Given the description of an element on the screen output the (x, y) to click on. 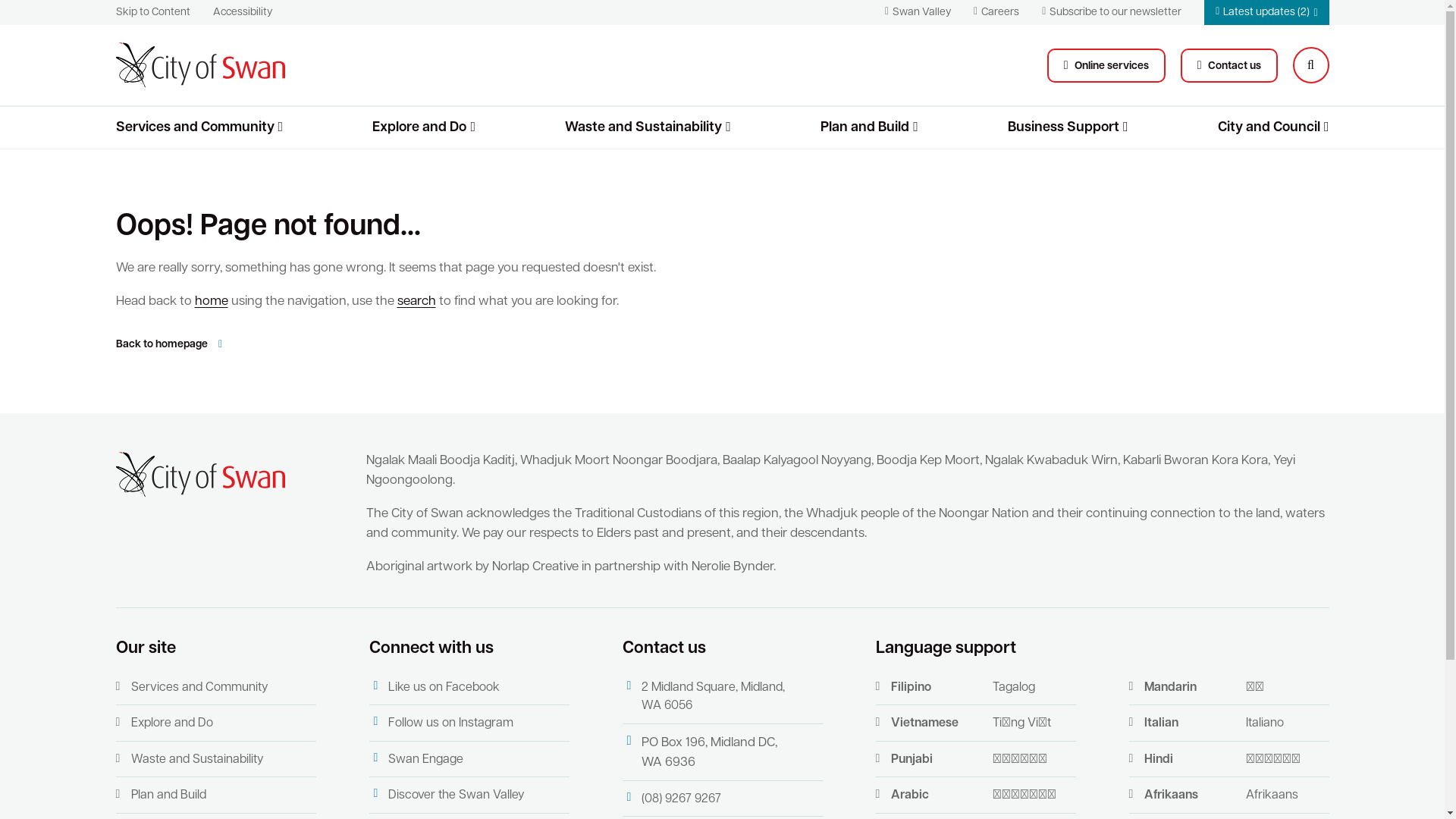
Follow us on Instagram Element type: text (468, 723)
(08) 9267 9267 Element type: text (721, 798)
Services and Community Element type: text (198, 127)
Afrikaans
Afrikaans Element type: text (1228, 795)
Business Support Element type: text (1067, 127)
Waste and Sustainability Element type: text (647, 127)
City of Swan Element type: hover (199, 473)
Accessibility Element type: text (241, 12)
Search toggle Element type: text (1310, 65)
Subscribe to our newsletter Element type: text (1111, 12)
Italian
Italiano Element type: text (1228, 723)
Waste and Sustainability Element type: text (215, 759)
Contact us Element type: text (1228, 65)
home Element type: text (210, 300)
Plan and Build Element type: text (215, 795)
Swan Valley Element type: text (917, 12)
Skip to Content Element type: text (152, 12)
City of Swan Element type: hover (199, 64)
City and Council Element type: text (1273, 127)
Like us on Facebook Element type: text (468, 687)
Explore and Do Element type: text (423, 127)
Explore and Do Element type: text (215, 723)
2 Midland Square, Midland,
WA 6056 Element type: text (721, 697)
Back to homepage Element type: text (170, 343)
Plan and Build Element type: text (869, 127)
Filipino
Tagalog Element type: text (975, 687)
Careers Element type: text (996, 12)
Latest updates (2) Element type: text (1266, 12)
Online services Element type: text (1106, 65)
search Element type: text (416, 300)
Discover the Swan Valley Element type: text (468, 795)
Swan Engage Element type: text (468, 759)
Services and Community Element type: text (215, 687)
